Given the description of an element on the screen output the (x, y) to click on. 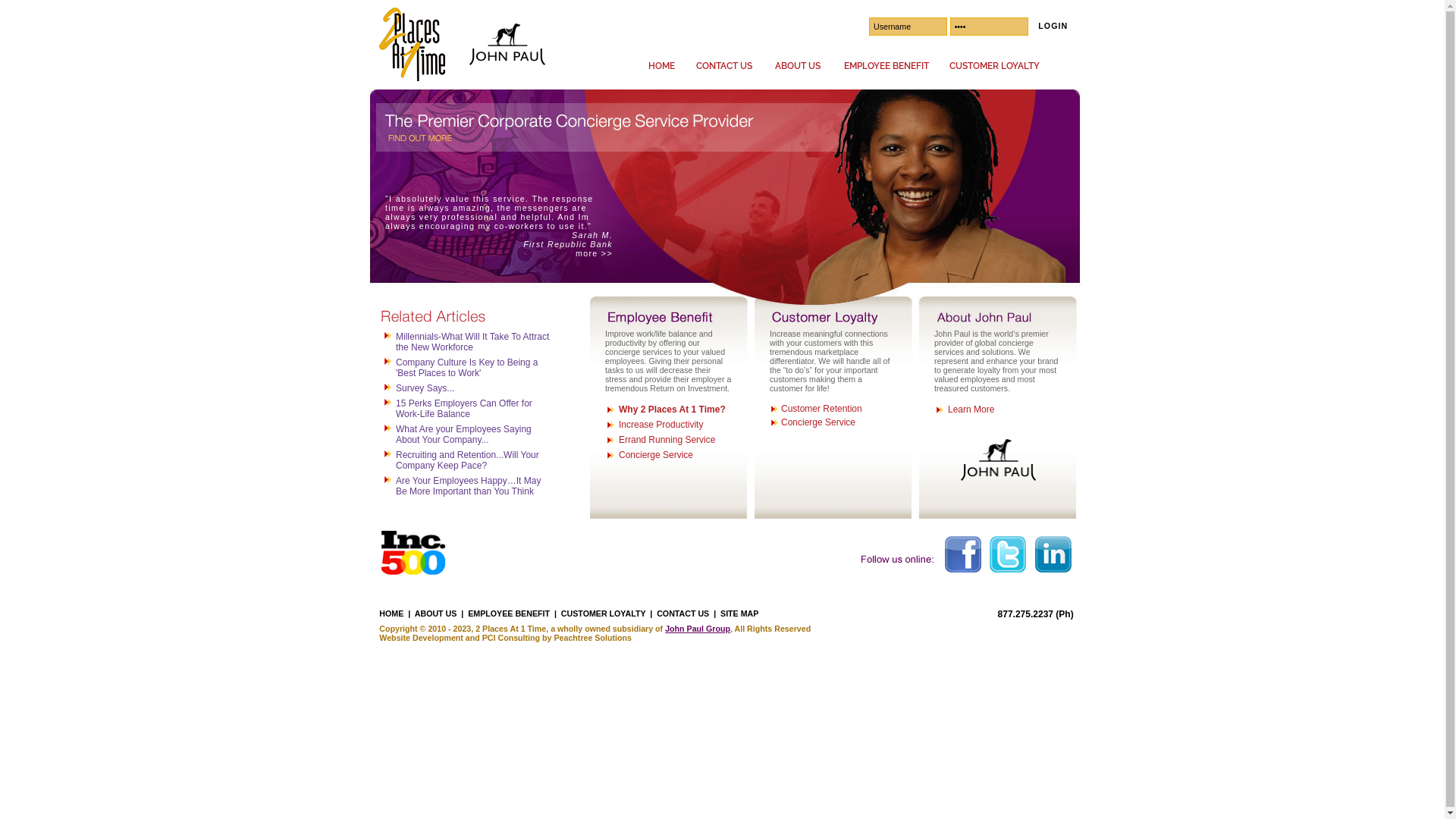
ABOUT US Element type: text (796, 65)
Survey Says... Element type: text (424, 387)
Errand Running Service Element type: text (666, 439)
CUSTOMER LOYALTY Element type: text (993, 65)
15 Perks Employers Can Offer for Work-Life Balance Element type: text (463, 408)
CUSTOMER LOYALTY Element type: text (603, 613)
What Are your Employees Saying About Your Company... Element type: text (463, 434)
Increase Productivity Element type: text (660, 424)
CONTACT US Element type: text (682, 613)
Learn More Element type: text (970, 409)
HOME Element type: text (391, 613)
LOGIN Element type: text (1048, 25)
Recruiting and Retention...Will Your Company Keep Pace? Element type: text (467, 459)
EMPLOYEE BENEFIT Element type: text (508, 613)
Millennials-What Will It Take To Attract the New Workforce Element type: text (472, 341)
HOME Element type: text (661, 65)
more >> Element type: text (593, 252)
CONTACT US Element type: text (723, 65)
ABOUT US Element type: text (435, 613)
SITE MAP Element type: text (739, 613)
Concierge Service Element type: text (655, 454)
EMPLOYEE BENEFIT Element type: text (886, 65)
Customer Retention Element type: text (821, 408)
Why 2 Places At 1 Time? Element type: text (671, 409)
Concierge Service Element type: text (818, 422)
Company Culture Is Key to Being a 'Best Places to Work' Element type: text (466, 367)
John Paul Group Element type: text (697, 628)
